Given the description of an element on the screen output the (x, y) to click on. 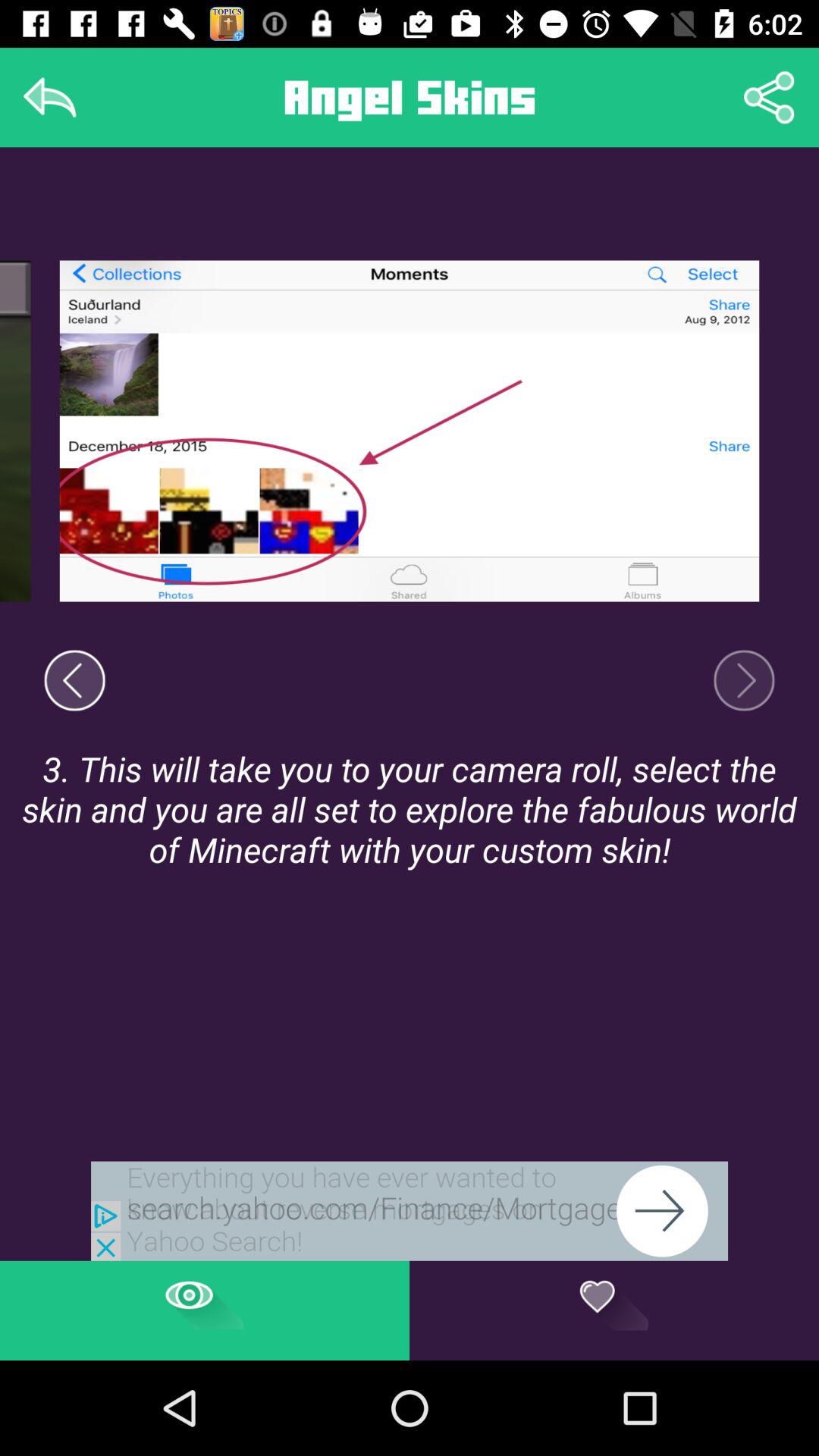
go back (49, 97)
